Given the description of an element on the screen output the (x, y) to click on. 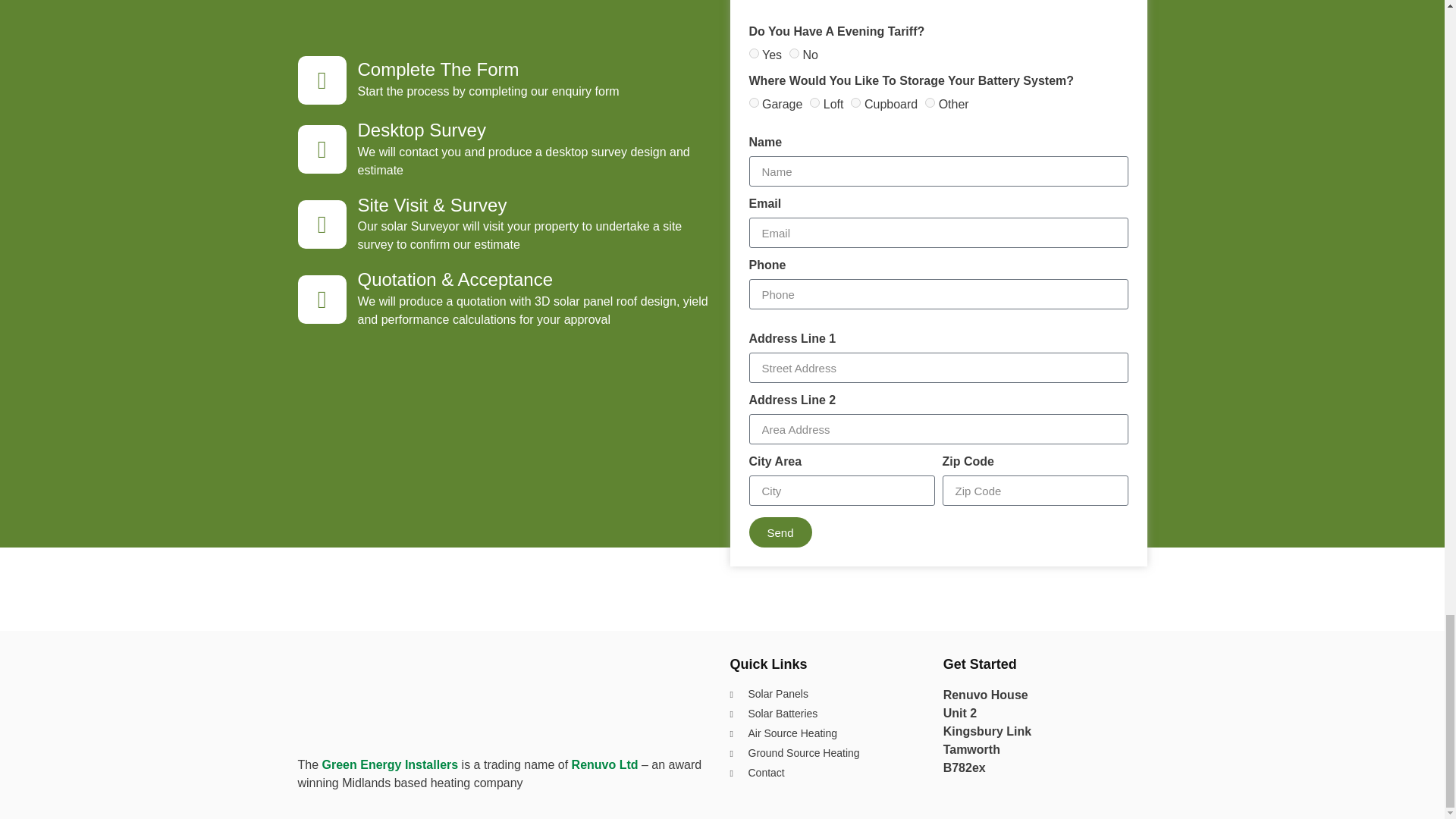
Yes (753, 53)
Other (929, 102)
Loft (814, 102)
Cupboard (855, 102)
Garage (753, 102)
No (794, 53)
